Given the description of an element on the screen output the (x, y) to click on. 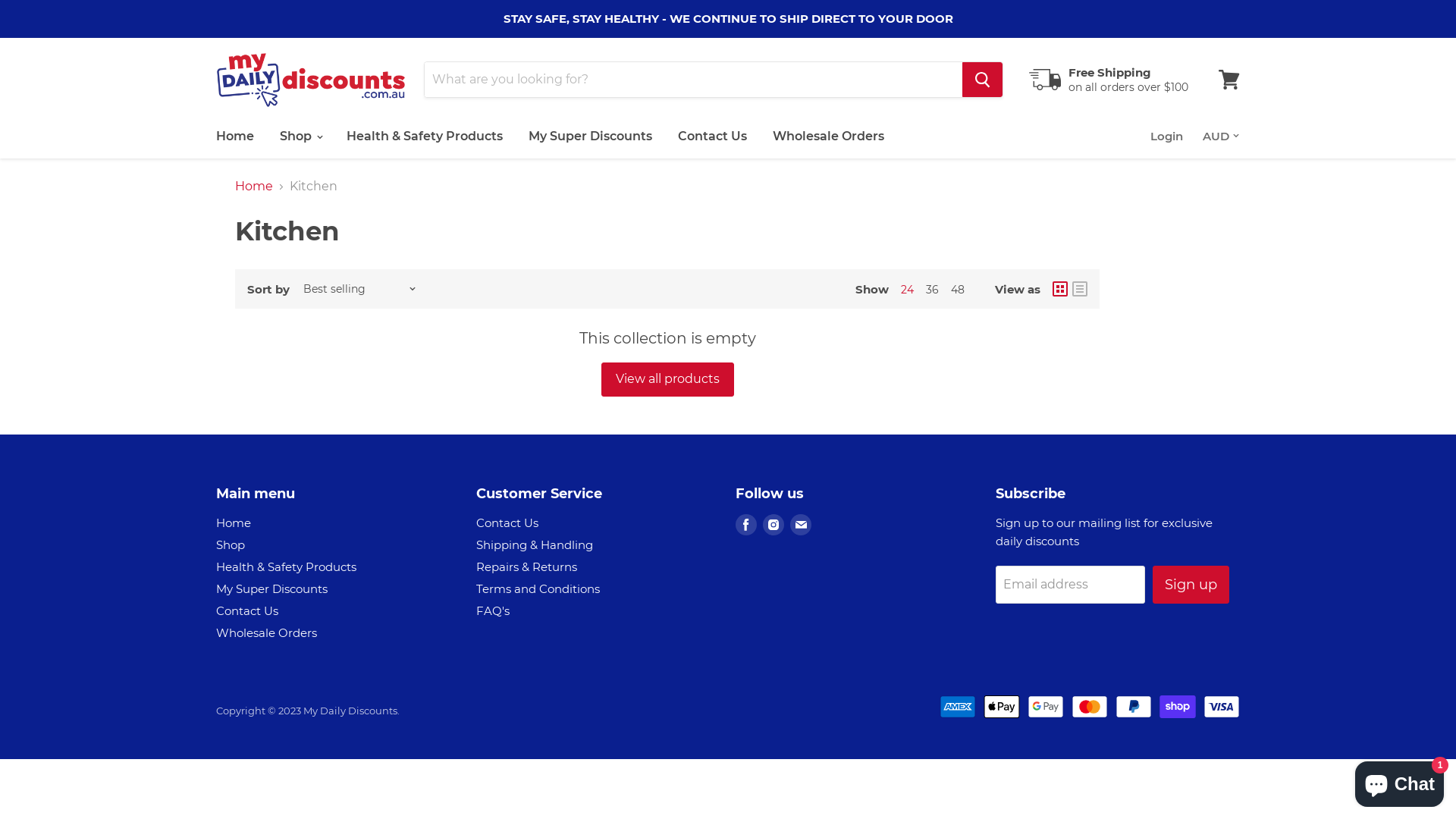
Shop Element type: text (300, 136)
Health & Safety Products Element type: text (286, 566)
My Super Discounts Element type: text (590, 136)
Home Element type: text (234, 136)
View cart Element type: text (1229, 79)
Contact Us Element type: text (507, 522)
Shipping & Handling Element type: text (534, 543)
Sign up Element type: text (1190, 584)
Find us on E-mail Element type: text (800, 524)
Terms and Conditions Element type: text (537, 587)
Repairs & Returns Element type: text (526, 566)
View all products Element type: text (666, 378)
36 Element type: text (931, 289)
Shopify online store chat Element type: hover (1399, 780)
Find us on Facebook Element type: text (745, 524)
Wholesale Orders Element type: text (828, 136)
Health & Safety Products Element type: text (424, 136)
My Super Discounts Element type: text (271, 587)
48 Element type: text (957, 289)
Home Element type: text (254, 186)
Contact Us Element type: text (712, 136)
Home Element type: text (233, 522)
Find us on Instagram Element type: text (773, 524)
Contact Us Element type: text (247, 610)
FAQ's Element type: text (492, 610)
24 Element type: text (906, 289)
Login Element type: text (1166, 136)
Wholesale Orders Element type: text (266, 631)
Shop Element type: text (230, 543)
